Given the description of an element on the screen output the (x, y) to click on. 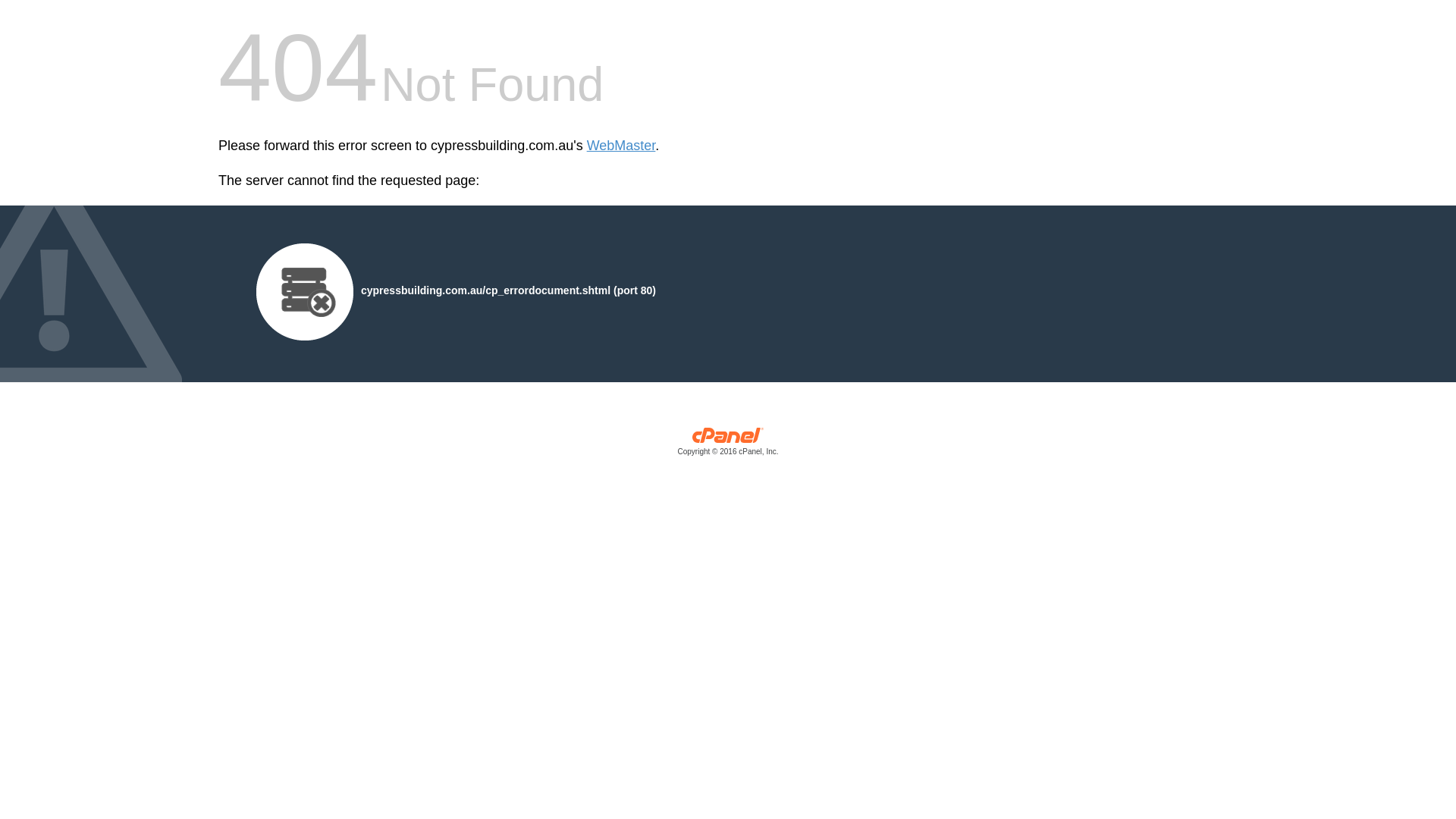
WebMaster Element type: text (620, 145)
